Given the description of an element on the screen output the (x, y) to click on. 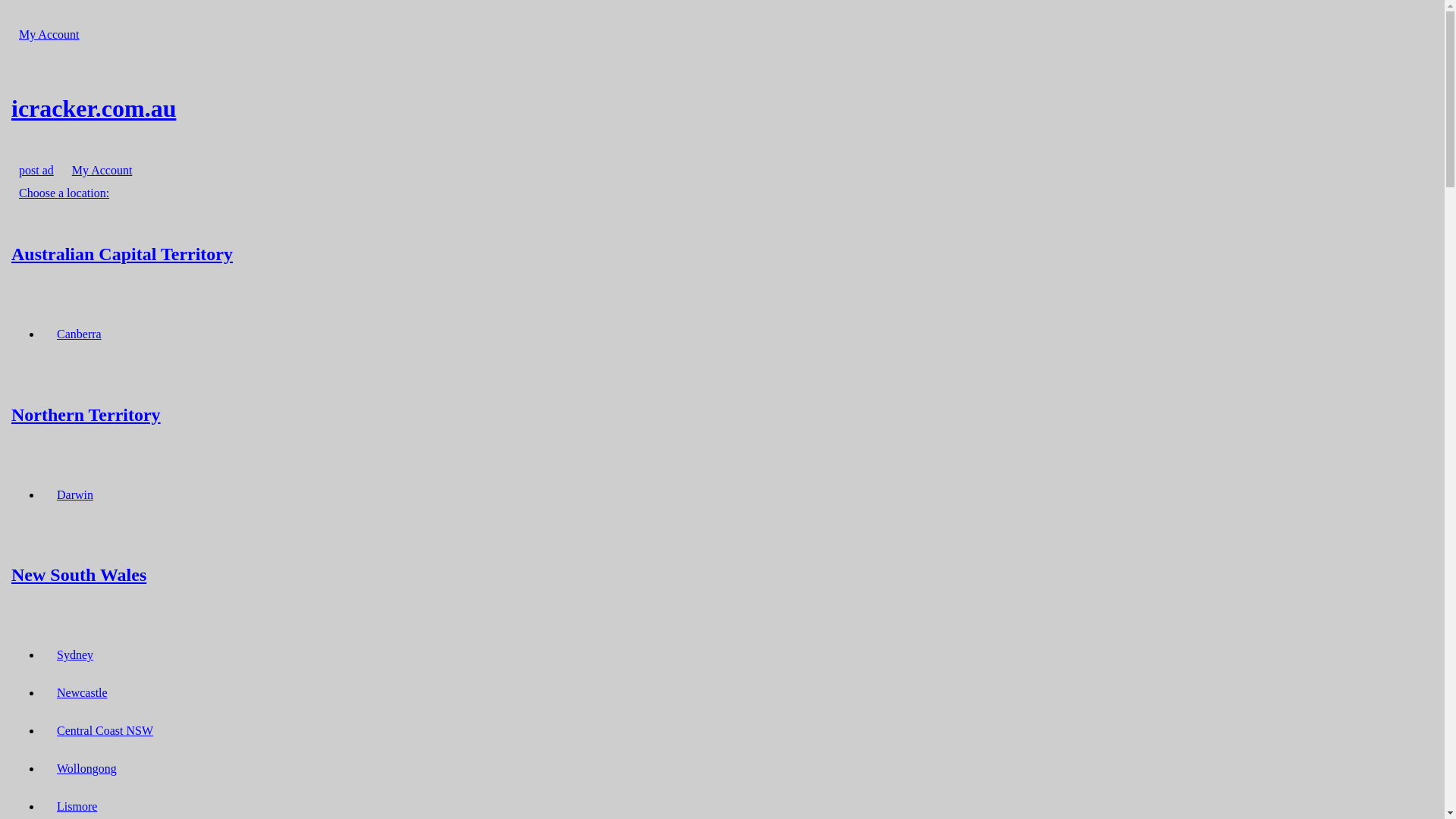
Newcastle Element type: text (82, 692)
Wollongong Element type: text (86, 768)
post ad Element type: text (36, 170)
Canberra Element type: text (79, 334)
Darwin Element type: text (74, 494)
New South Wales Element type: text (722, 575)
Central Coast NSW Element type: text (104, 730)
My Account Element type: text (49, 34)
Northern Territory Element type: text (722, 414)
Sydney Element type: text (74, 654)
Choose a location: Element type: text (63, 192)
Australian Capital Territory Element type: text (722, 253)
icracker.com.au Element type: text (722, 108)
My Account Element type: text (102, 170)
